Given the description of an element on the screen output the (x, y) to click on. 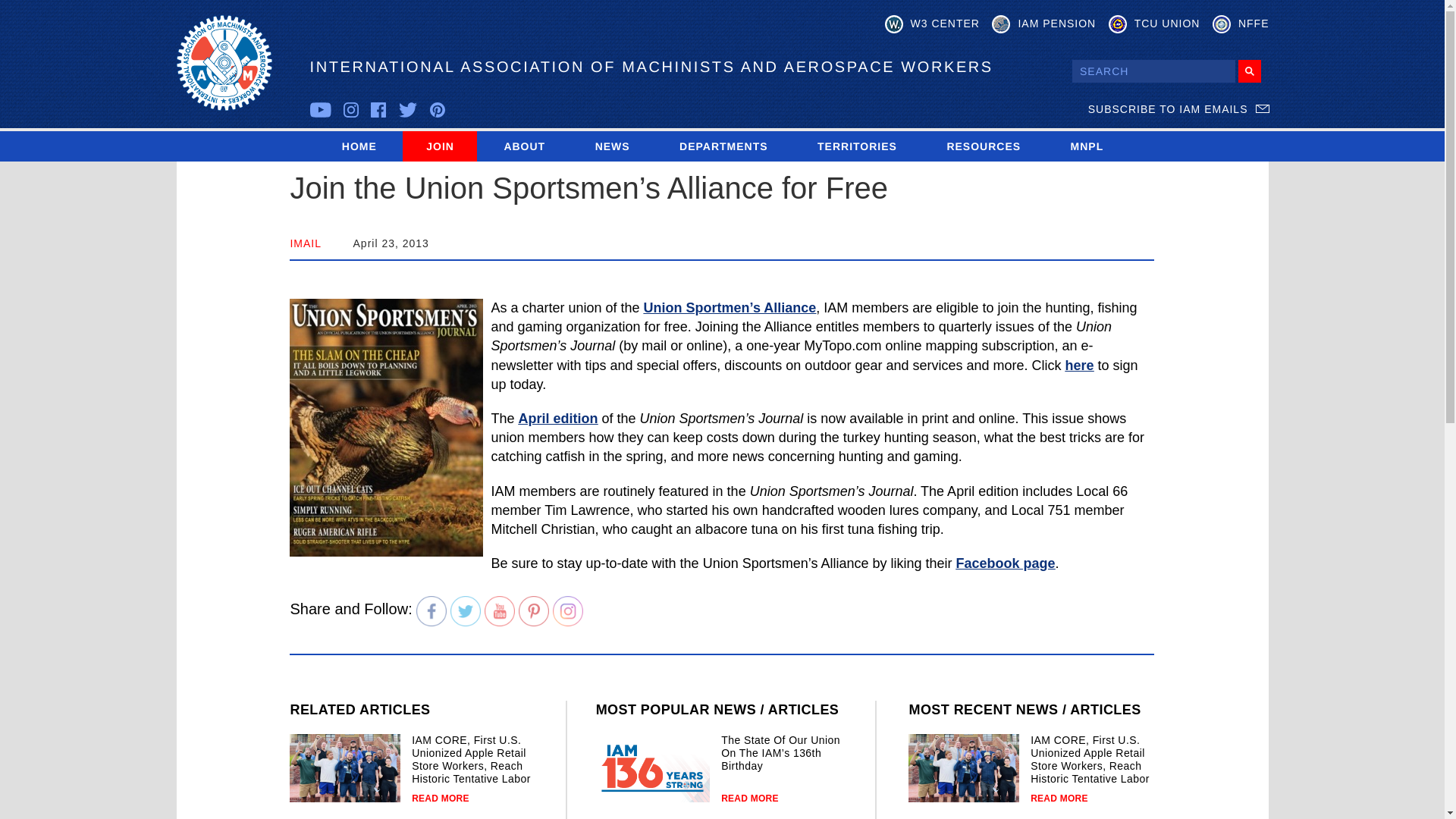
HOME (358, 146)
Facebook page (1004, 563)
IAM PENSION (1043, 24)
Twitter (464, 611)
Facebook (431, 611)
MNPL (1086, 146)
Instagram (568, 611)
YouTube (499, 611)
SUBSCRIBE TO IAM EMAILS (1178, 108)
IMAIL (305, 243)
Pinterest (533, 611)
TCU UNION (1153, 24)
here (1079, 365)
NFFE (1240, 24)
TERRITORIES (856, 146)
